Given the description of an element on the screen output the (x, y) to click on. 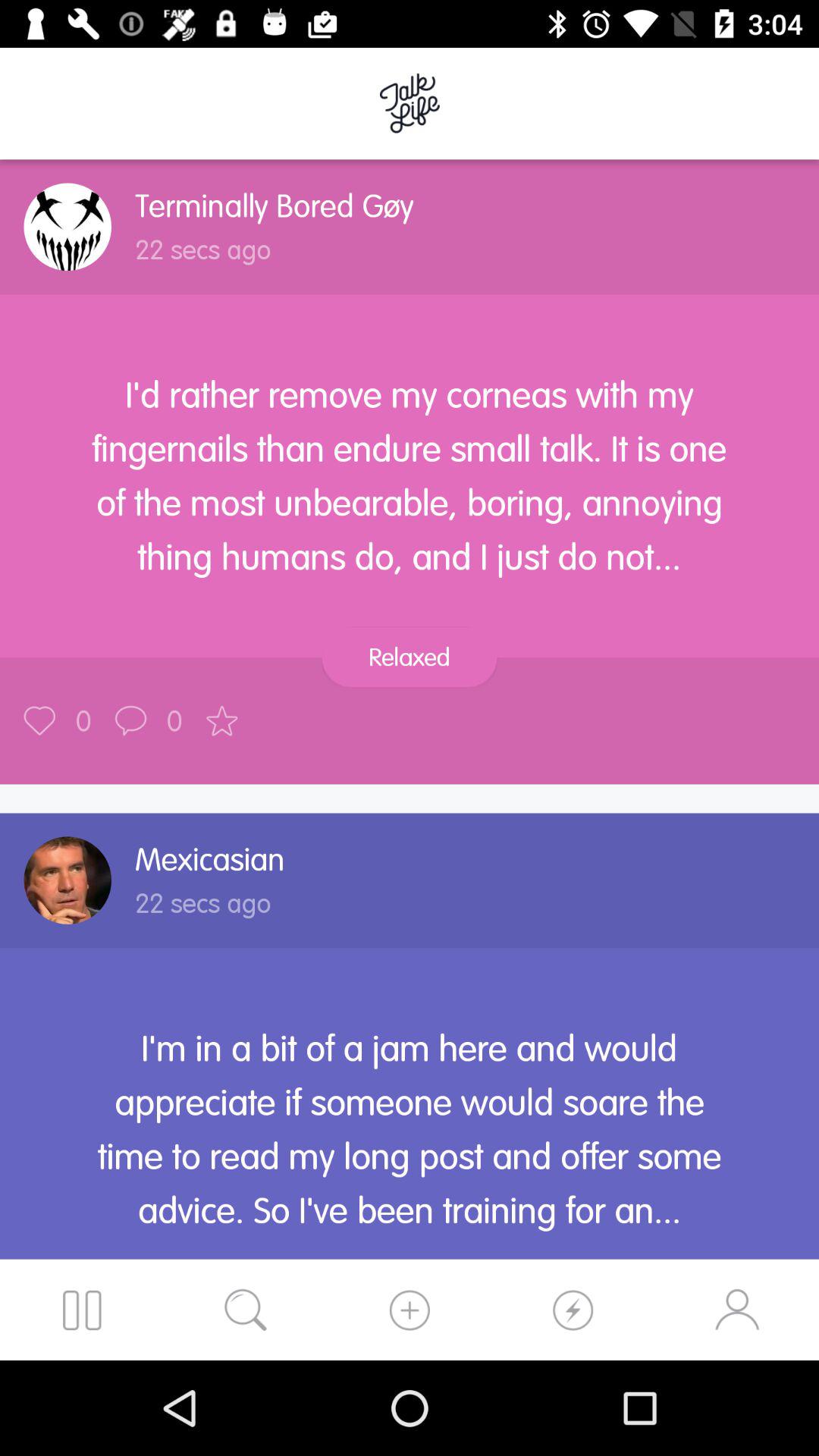
crazy scary cartoon smily face (67, 226)
